Given the description of an element on the screen output the (x, y) to click on. 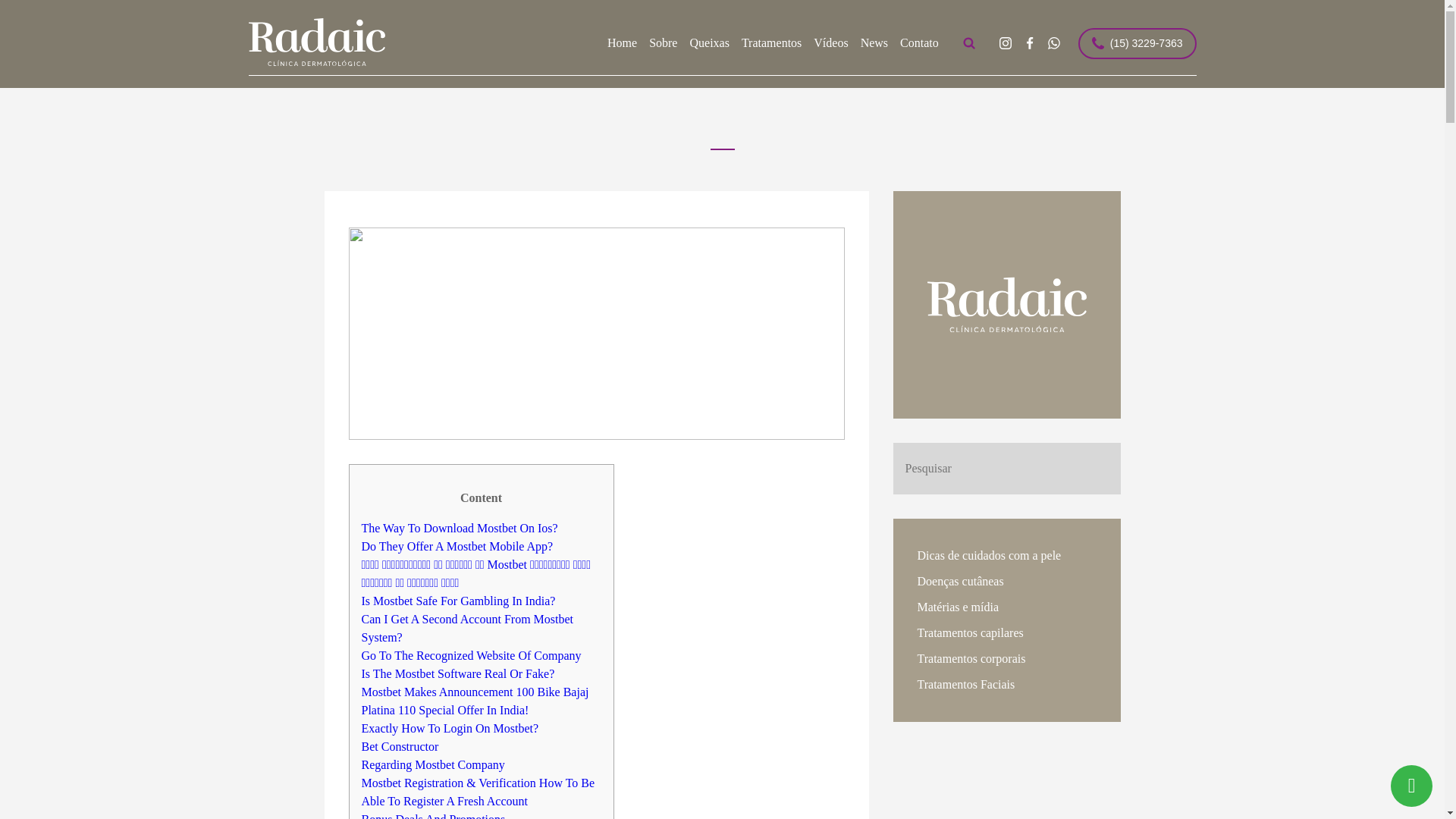
Contato (918, 43)
The Way To Download Mostbet On Ios? (459, 527)
Is The Mostbet Software Real Or Fake? (457, 673)
Exactly How To Login On Mostbet? (449, 727)
News (873, 43)
Bonus Deals And Promotions (433, 816)
Can I Get A Second Account From Mostbet System? (467, 627)
Do They Offer A Mostbet Mobile App? (457, 545)
Is Mostbet Safe For Gambling In India? (457, 600)
Go To The Recognized Website Of Company (470, 655)
